Given the description of an element on the screen output the (x, y) to click on. 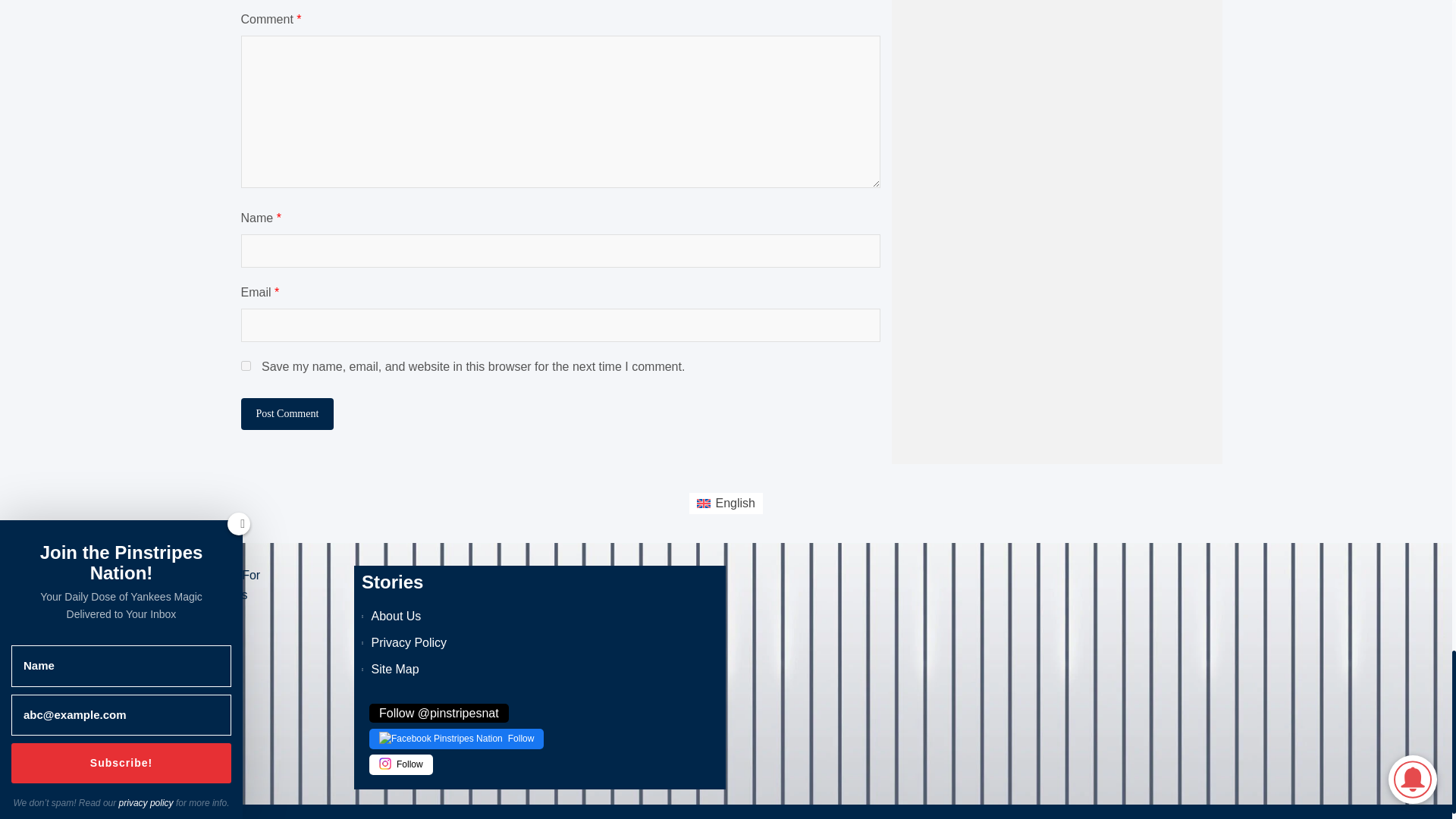
Post Comment (287, 413)
yes (245, 366)
